Given the description of an element on the screen output the (x, y) to click on. 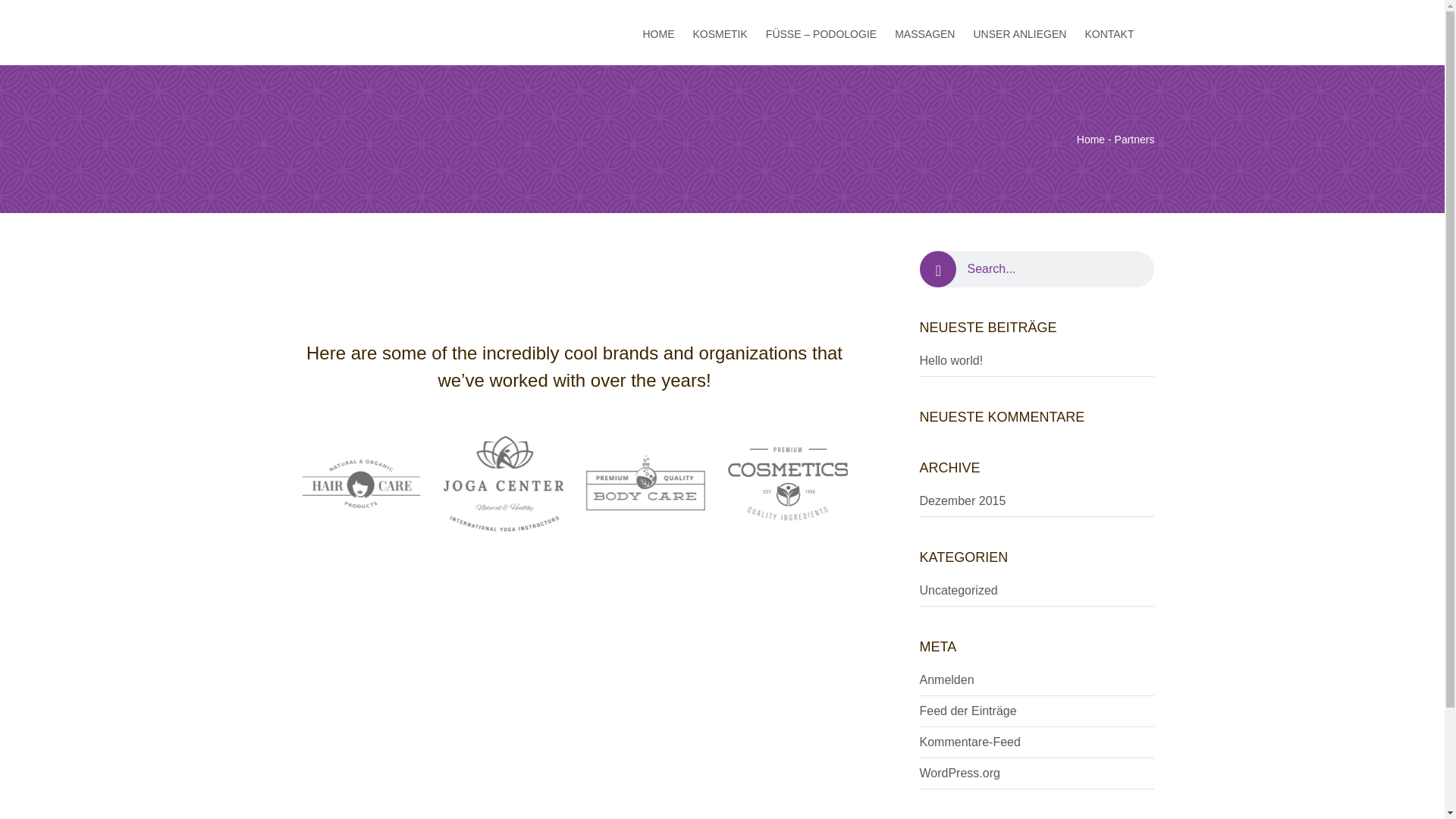
Hello world! (950, 359)
KONTAKT (1108, 32)
UNSER ANLIEGEN (1019, 32)
Home (1091, 139)
Kommentare-Feed (969, 741)
Anmelden (946, 679)
Dezember 2015 (962, 500)
MASSAGEN (924, 32)
HOME (658, 32)
WordPress.org (958, 772)
KOSMETIK (720, 32)
Uncategorized (957, 590)
